Given the description of an element on the screen output the (x, y) to click on. 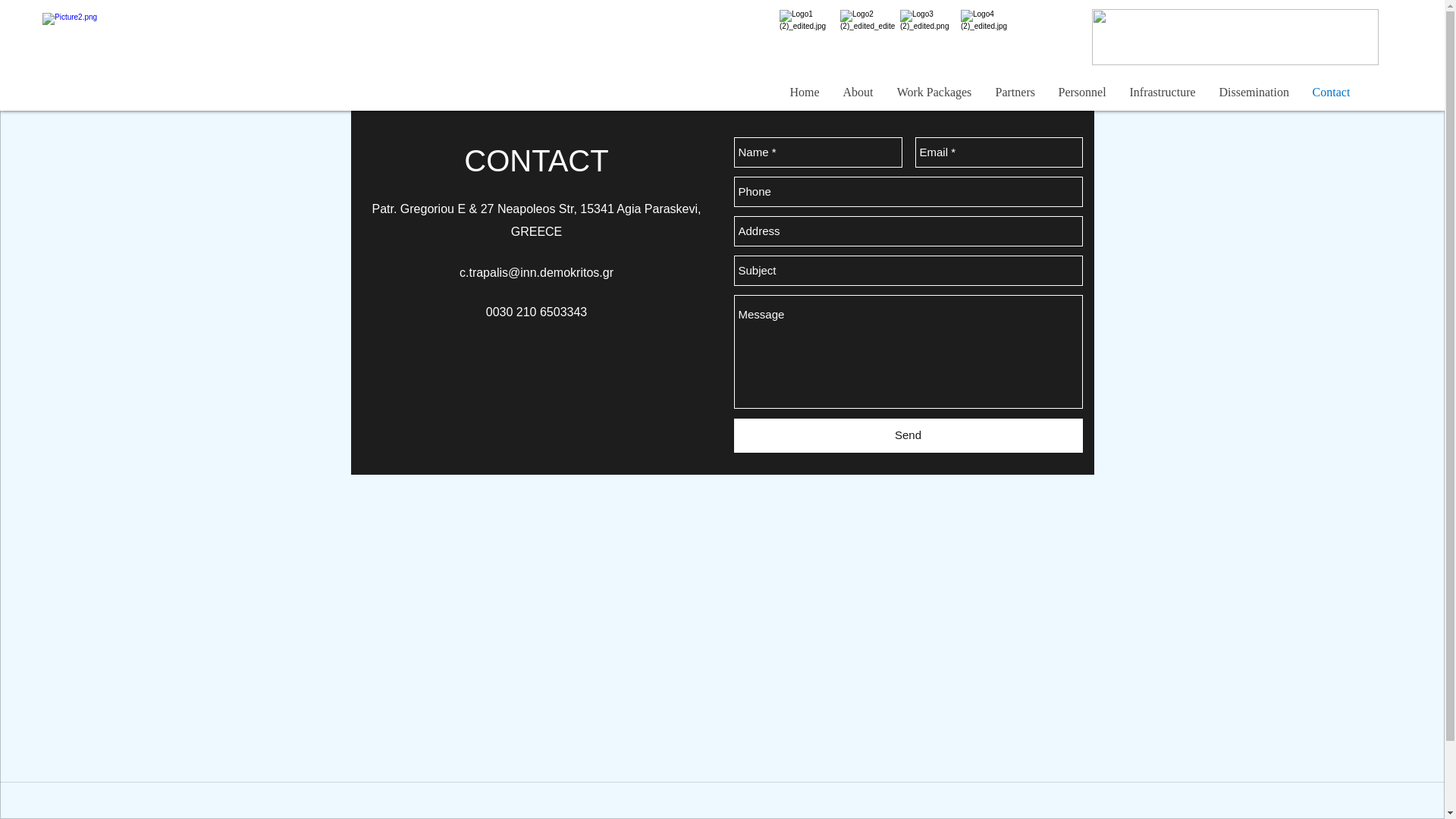
Send Element type: text (908, 435)
Infrastructure Element type: text (1162, 91)
About Element type: text (857, 91)
Logo3 (2).jpg Element type: hover (927, 37)
Logo2 (2).jpg Element type: hover (867, 37)
Logo1 (2).jpg Element type: hover (806, 37)
Home Element type: text (804, 91)
Contact Element type: text (1330, 91)
c.trapalis@inn.demokritos.gr Element type: text (536, 272)
3.jpg Element type: hover (1235, 37)
Work Packages Element type: text (933, 91)
Logo4 (2).jpg Element type: hover (988, 37)
